Given the description of an element on the screen output the (x, y) to click on. 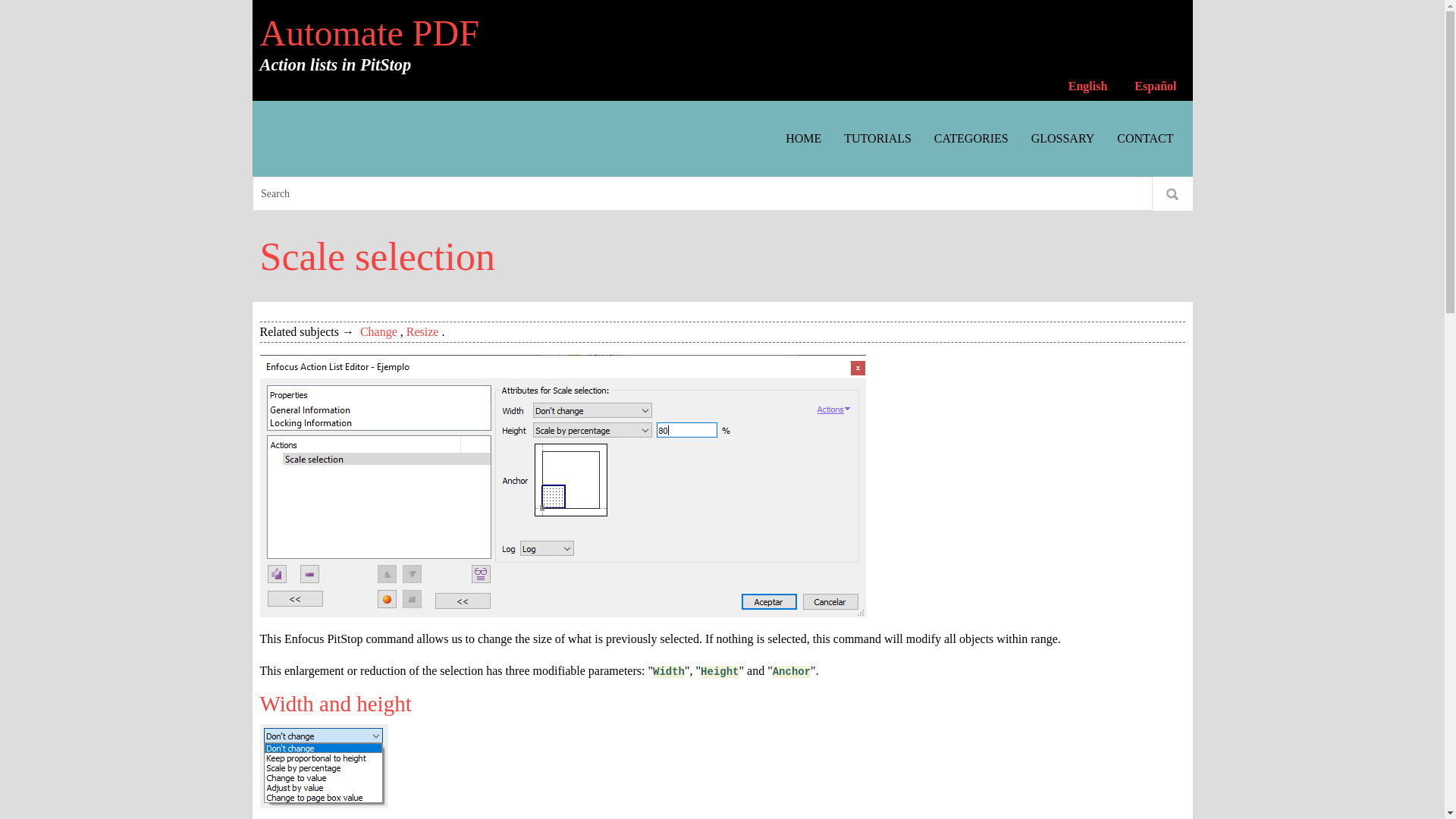
Por si quieres hablar con el propietario de este sitio. (1145, 138)
English (1088, 85)
Change (378, 331)
Automate PDF (369, 33)
Home (369, 33)
TUTORIALS (877, 138)
Resize (422, 331)
Tutoriales (877, 138)
CONTACT (1145, 138)
Enter the terms you wish to search for. (701, 193)
GLOSSARY (1063, 138)
CATEGORIES (971, 138)
